Given the description of an element on the screen output the (x, y) to click on. 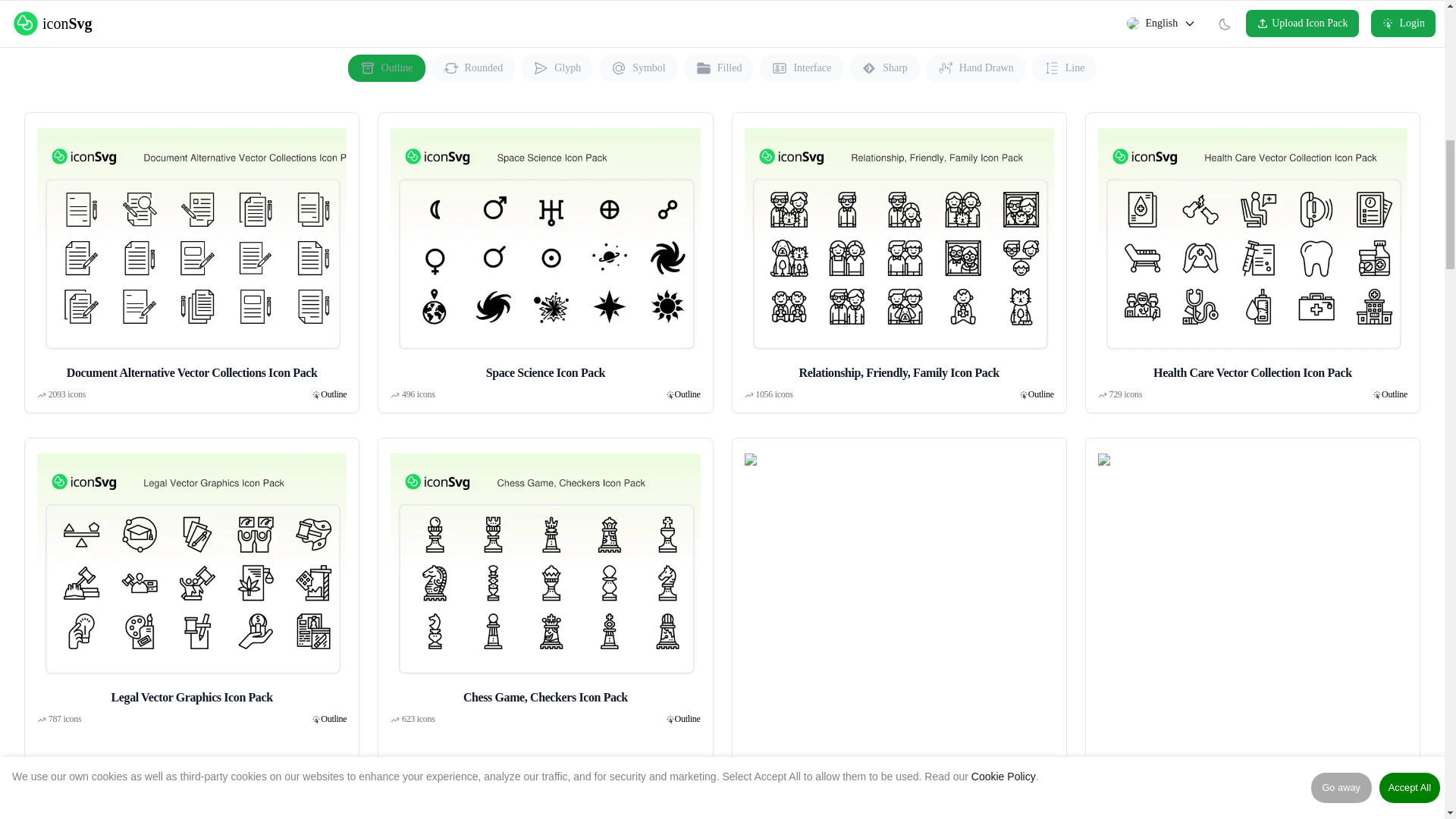
Outline (687, 394)
Outline (386, 67)
Symbol (638, 67)
Outline Icon Style (1040, 394)
Outline (333, 394)
Health Care Vector Collection Icon Pack (1252, 253)
Space Science Icon Pack (545, 253)
Line (1064, 67)
Outline (1394, 394)
Outline Icon Style (333, 394)
Outline Icon Style (687, 394)
Space Science Icon Pack (545, 243)
Hand Drawn (976, 67)
Outline (1040, 394)
Document Alternative Vector Collections Icon Pack (191, 253)
